Given the description of an element on the screen output the (x, y) to click on. 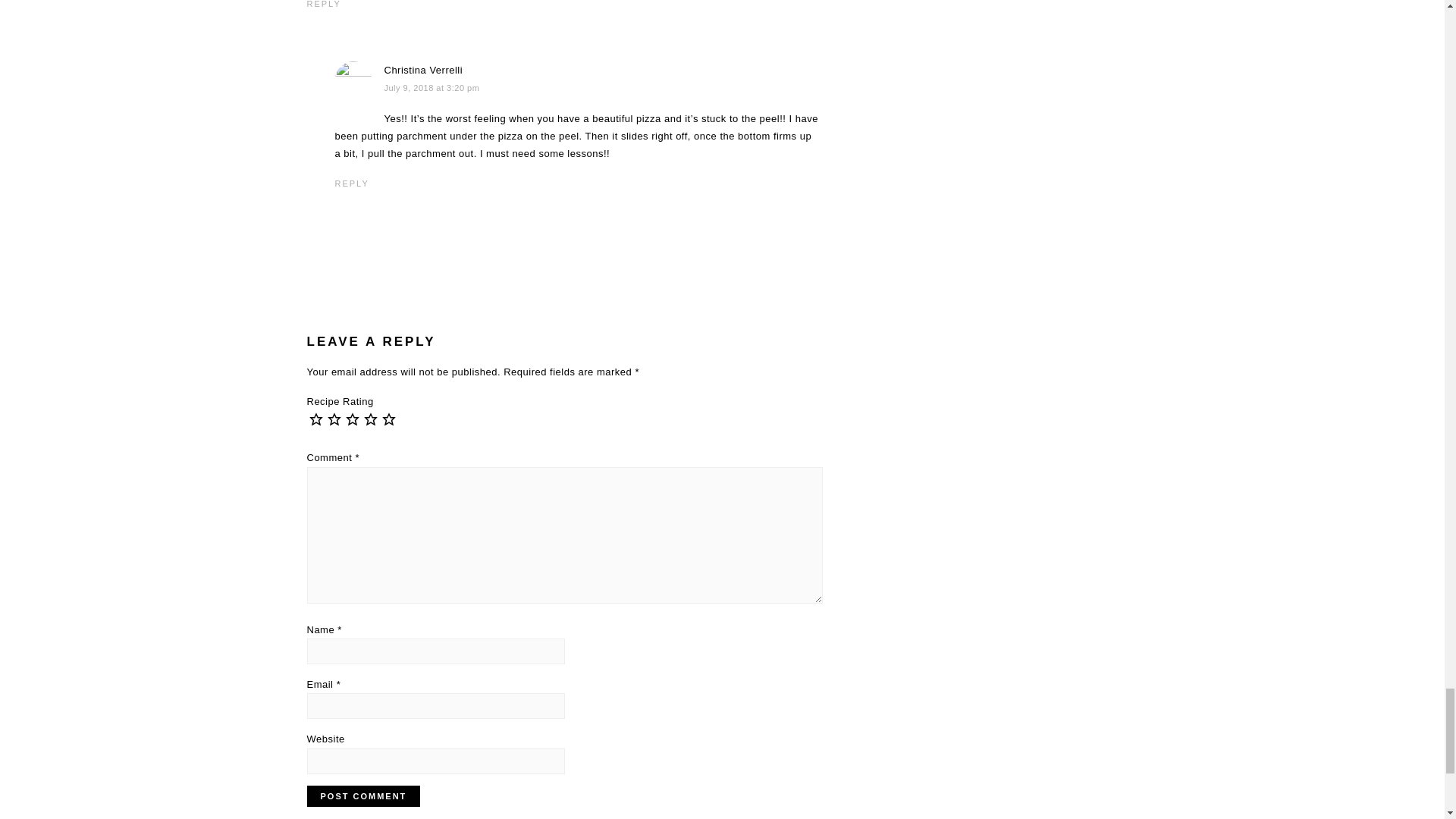
Post Comment (362, 795)
